Given the description of an element on the screen output the (x, y) to click on. 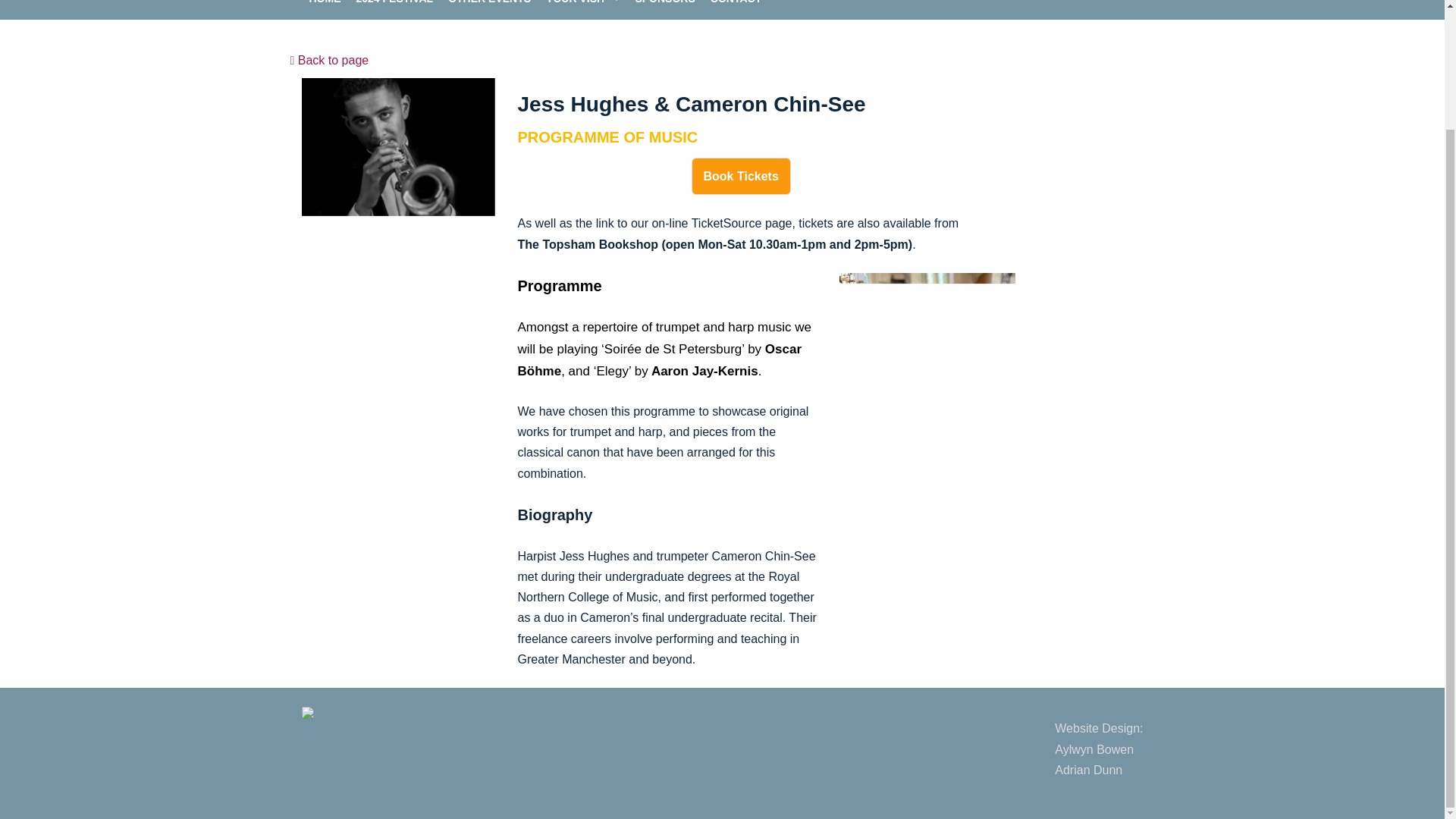
CONTACT (735, 2)
2024 FESTIVAL (394, 2)
Book Tickets (740, 176)
YOUR VISIT (575, 2)
OTHER EVENTS (1098, 748)
HOME (489, 2)
Back to page (324, 2)
SPONSORS (328, 60)
